Given the description of an element on the screen output the (x, y) to click on. 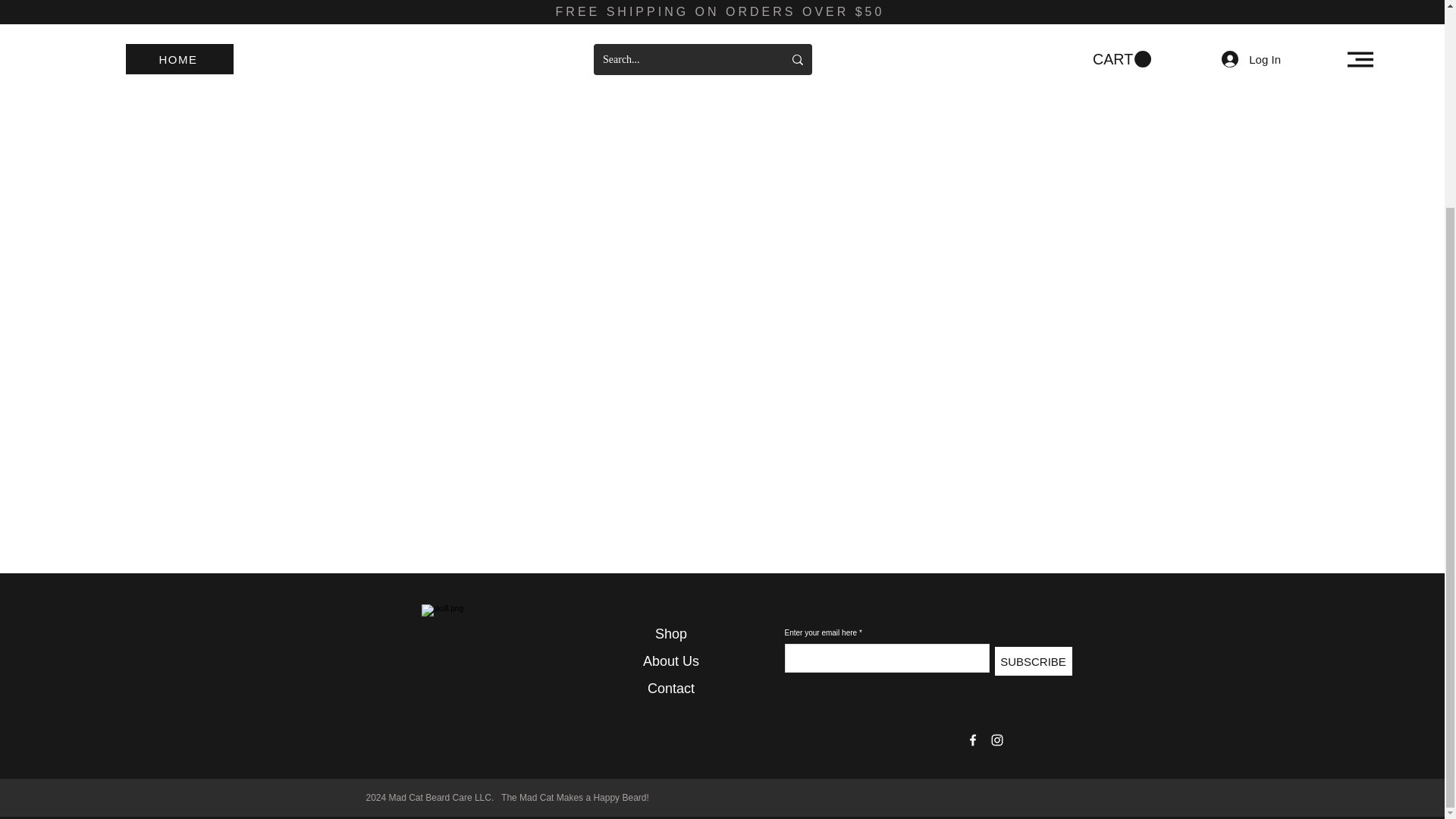
SUBSCRIBE (1032, 661)
Continue Shopping (721, 2)
Shop (671, 633)
About Us (670, 661)
Contact (670, 688)
